Given the description of an element on the screen output the (x, y) to click on. 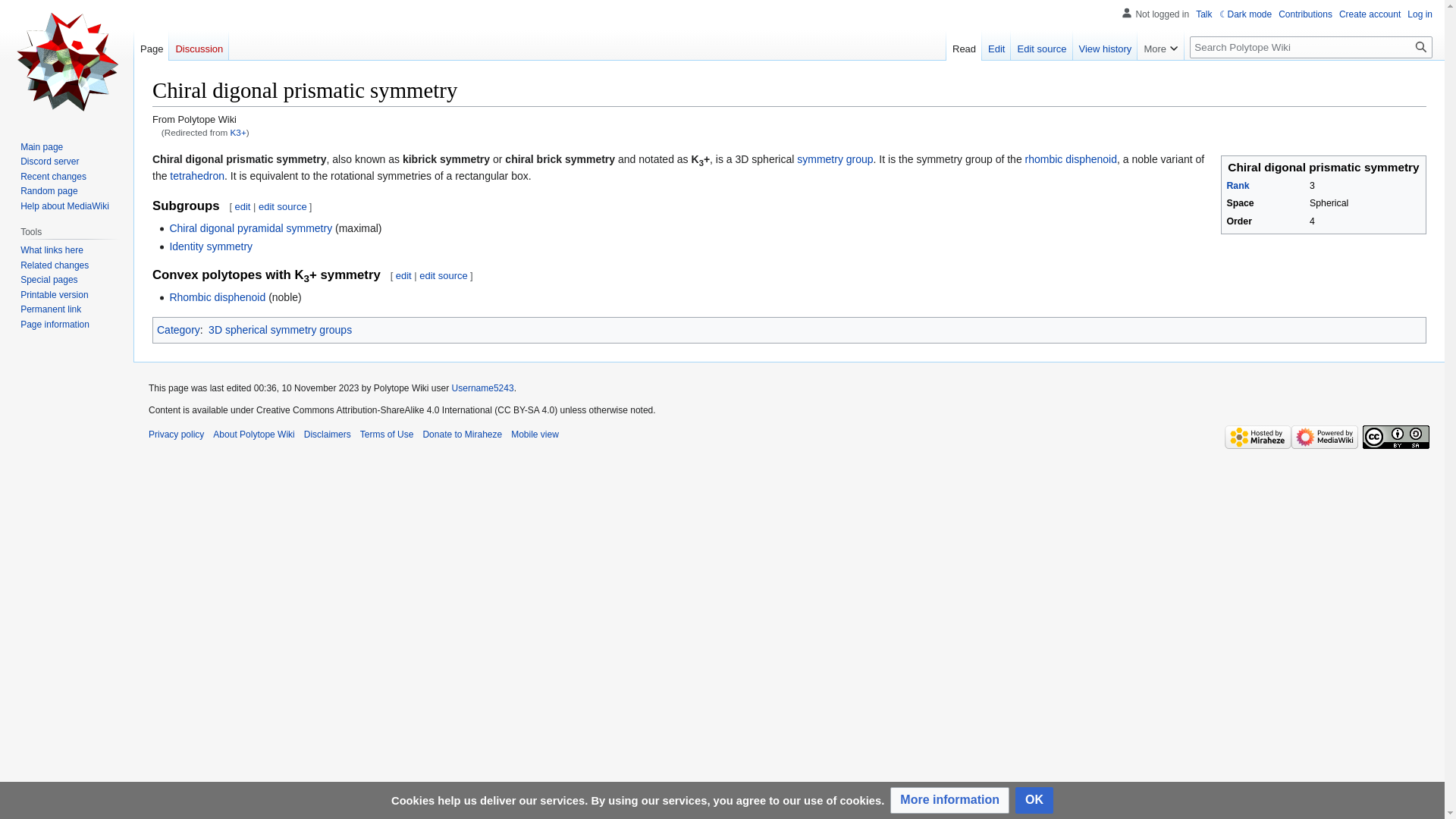
Special:Categories (178, 329)
3D spherical symmetry groups (280, 329)
Page (150, 45)
edit (242, 206)
Identity symmetry (209, 246)
Go (1420, 46)
Chiral digonal pyramidal symmetry (249, 227)
Dark mode (1246, 14)
Create account (1369, 14)
